Given the description of an element on the screen output the (x, y) to click on. 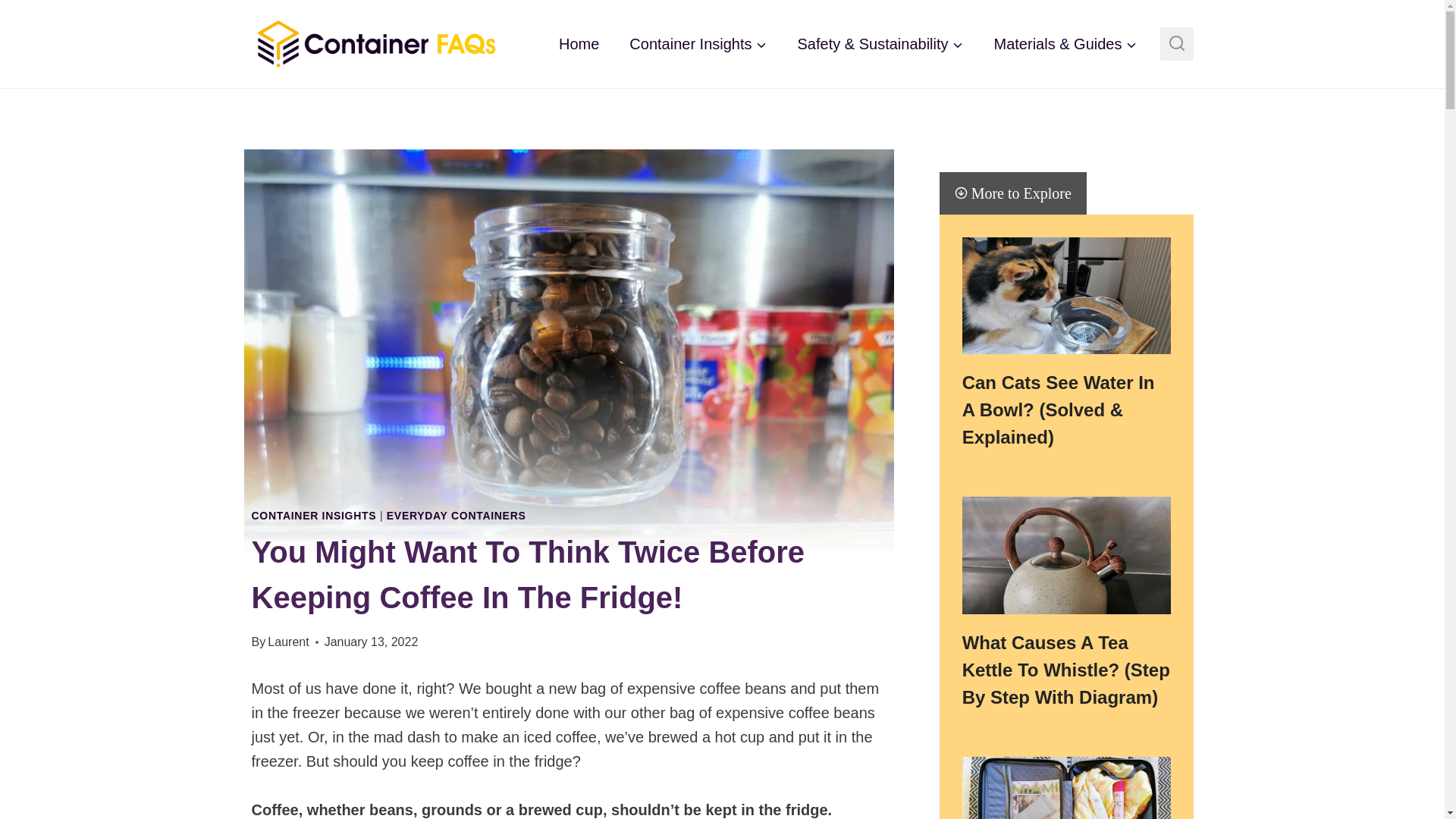
CONTAINER INSIGHTS (314, 515)
Container Insights (697, 43)
Laurent (287, 641)
EVERYDAY CONTAINERS (456, 515)
Home (578, 43)
